Given the description of an element on the screen output the (x, y) to click on. 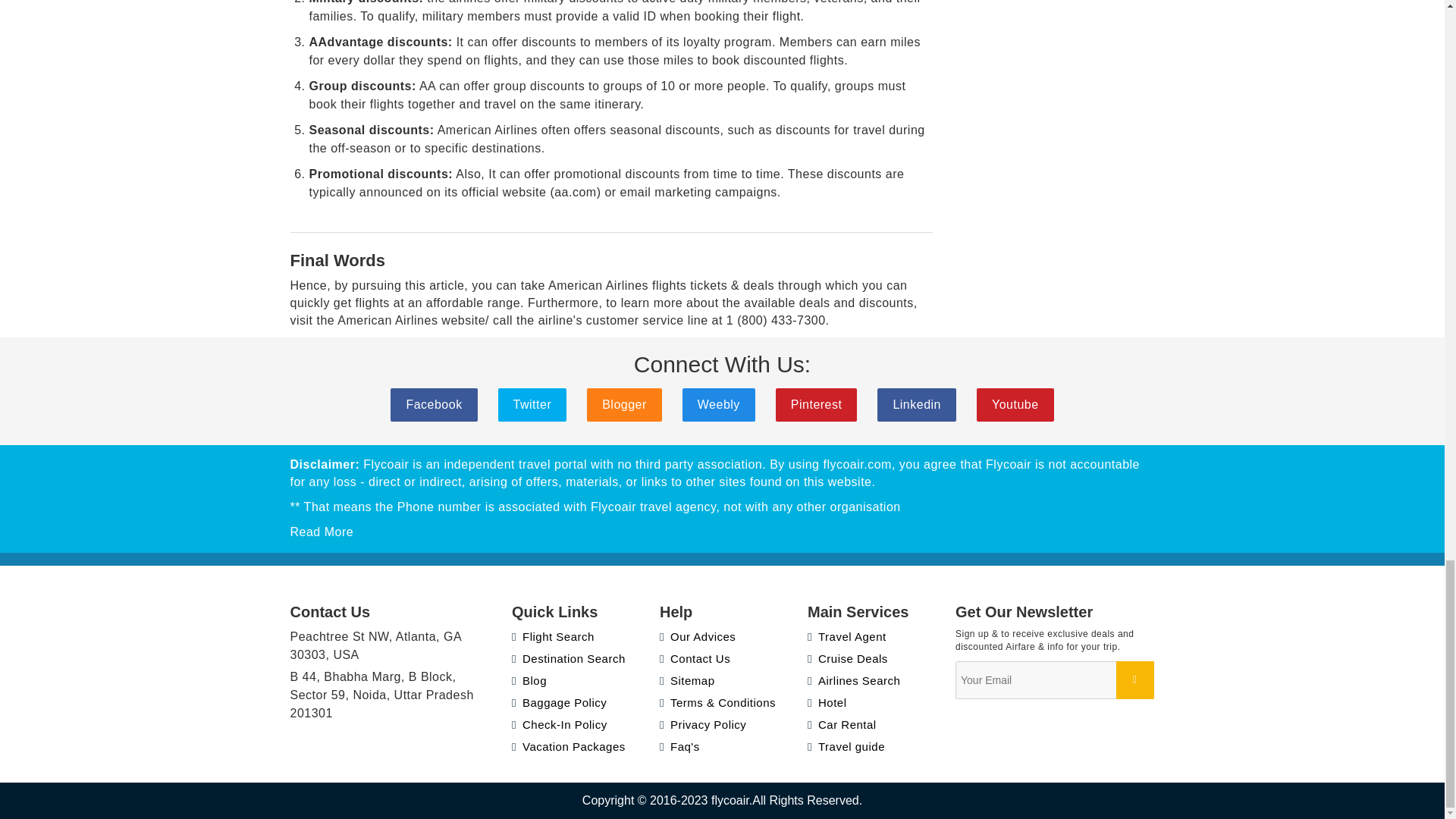
Privacy Policy (702, 724)
Contact Us (694, 658)
Car Rental (842, 724)
Our Advices (697, 635)
Blogger (624, 404)
Youtube (1015, 404)
Baggage Policy (559, 702)
Travel Agent (847, 635)
Flight Search (553, 635)
Vacation Packages (569, 746)
Blog (529, 680)
Linkedin (916, 404)
Pinterest (816, 404)
Check-In Policy (559, 724)
Twitter (532, 404)
